Given the description of an element on the screen output the (x, y) to click on. 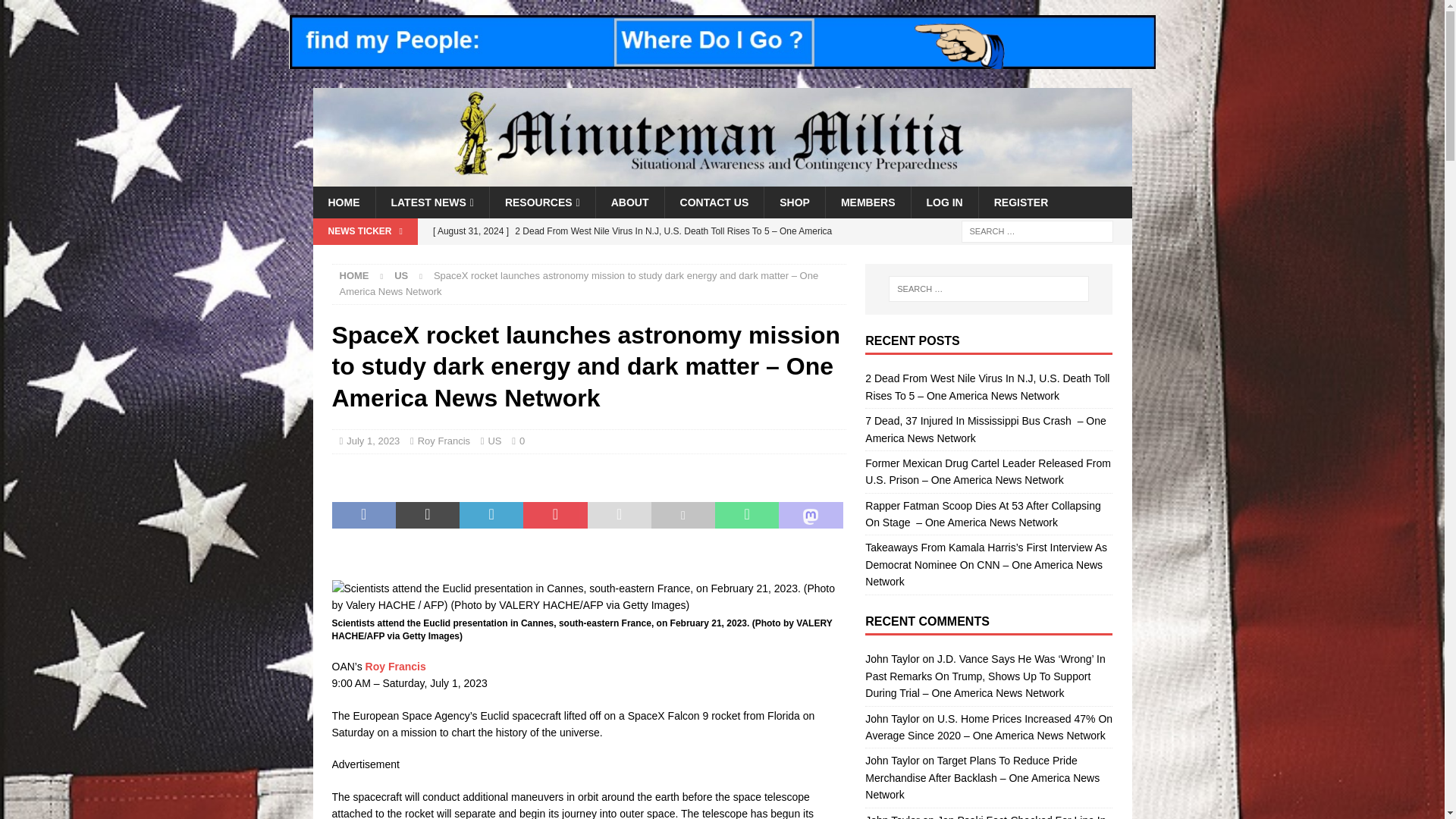
MEMBERS (868, 202)
Roy Francis (443, 440)
Home (354, 275)
US (493, 440)
HOME (343, 202)
LOG IN (943, 202)
US (400, 275)
RESOURCES (542, 202)
US (400, 275)
CONTACT US (713, 202)
